Given the description of an element on the screen output the (x, y) to click on. 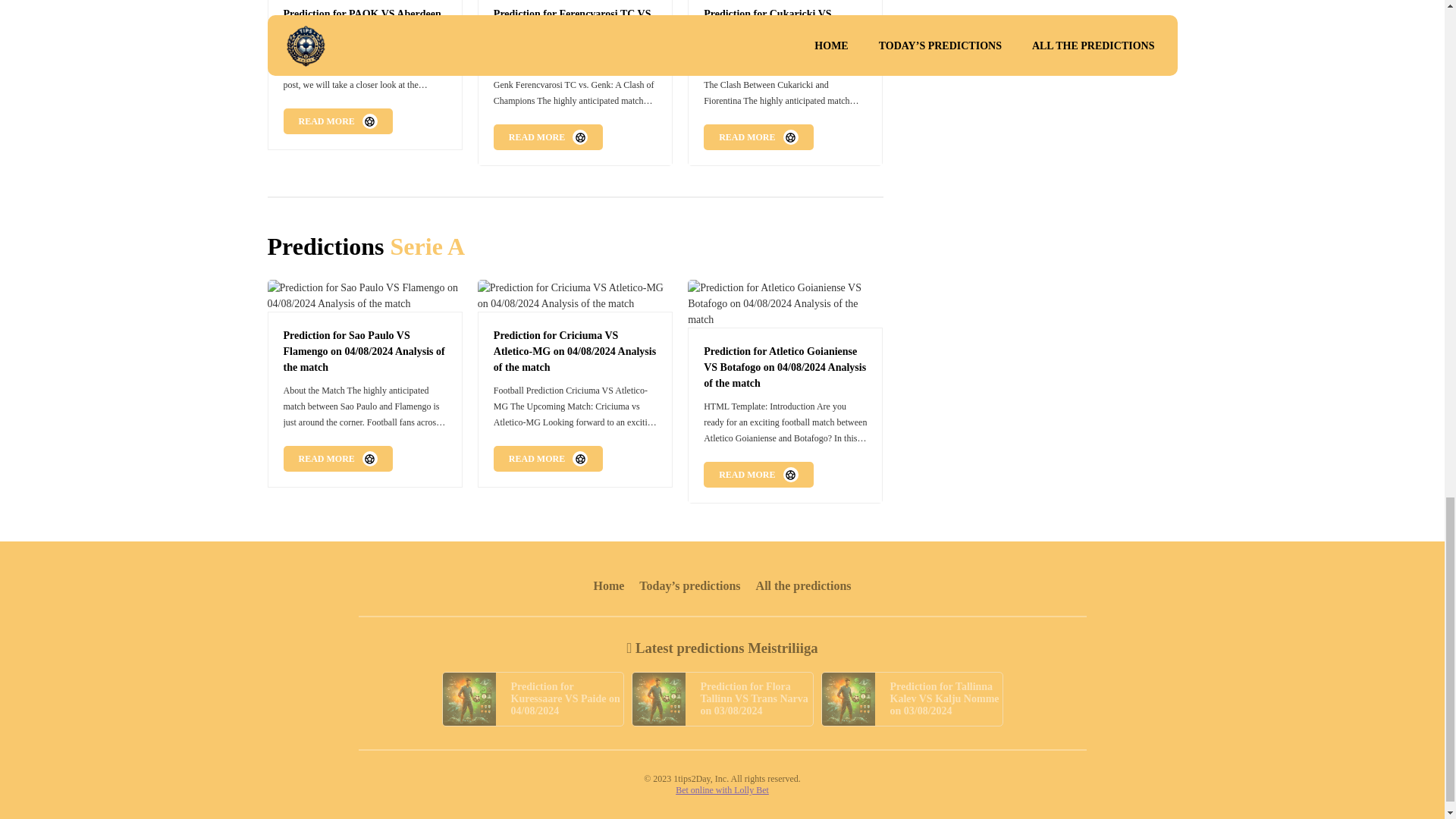
READ MORE (757, 474)
READ MORE (757, 136)
Bet online with Lolly Bet (721, 789)
Home (608, 585)
READ MORE (547, 136)
READ MORE (547, 458)
READ MORE (338, 458)
All the predictions (803, 585)
READ MORE (338, 121)
